Given the description of an element on the screen output the (x, y) to click on. 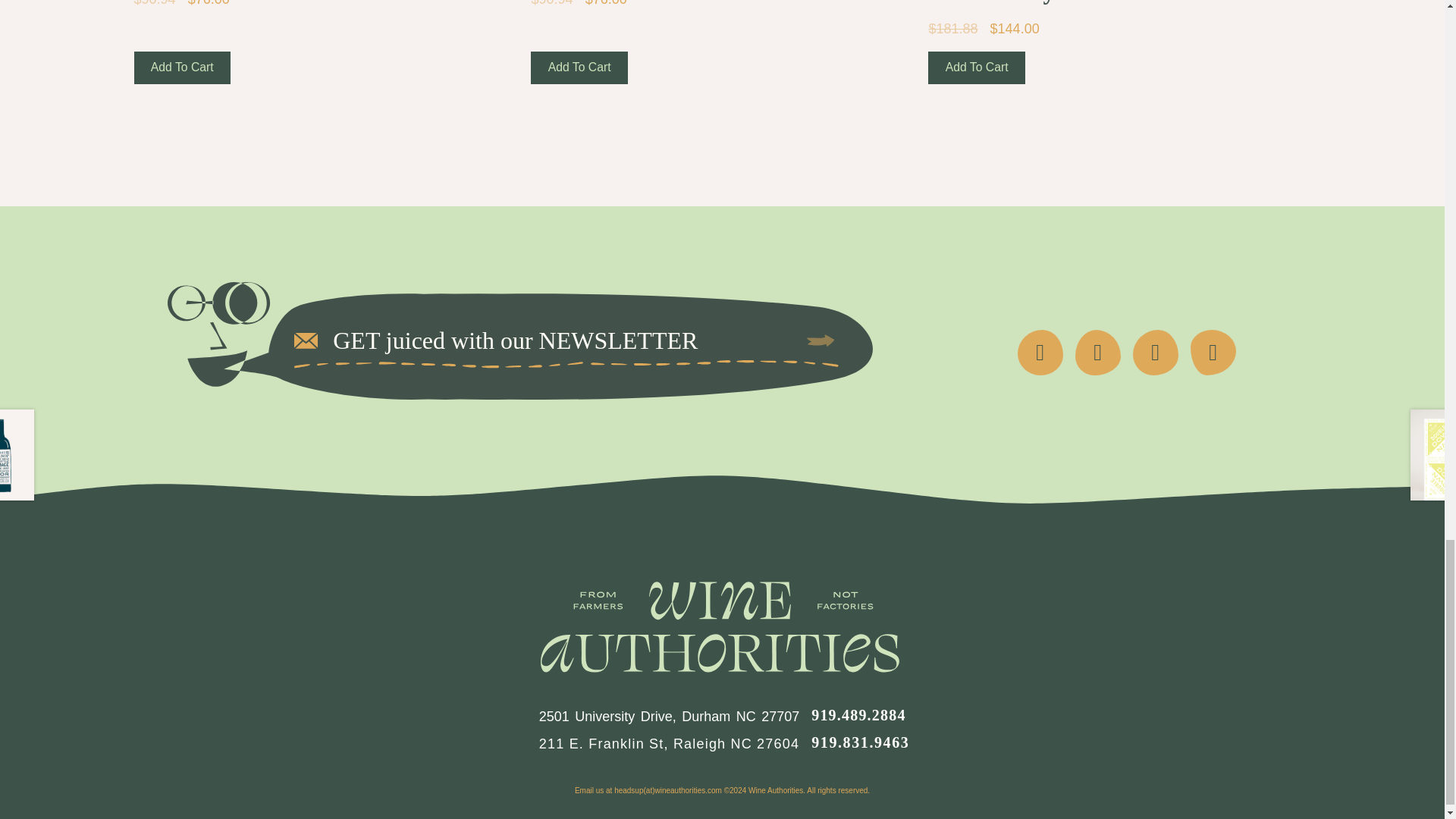
Follow Us On Facebook (1039, 352)
2501 University Drive, Durham NC 27707 (668, 716)
Facebook (1039, 352)
Add To Cart (579, 67)
Follow Us On Instagram (1154, 352)
Instagram (1154, 352)
Add To Cart (976, 67)
Submit (820, 340)
Add To Cart (181, 67)
Follow Us On TikTok (1213, 352)
Follow Us On Twitter (1098, 352)
919.489.2884 (857, 714)
TikTok (1213, 352)
Twitter (1098, 352)
